Given the description of an element on the screen output the (x, y) to click on. 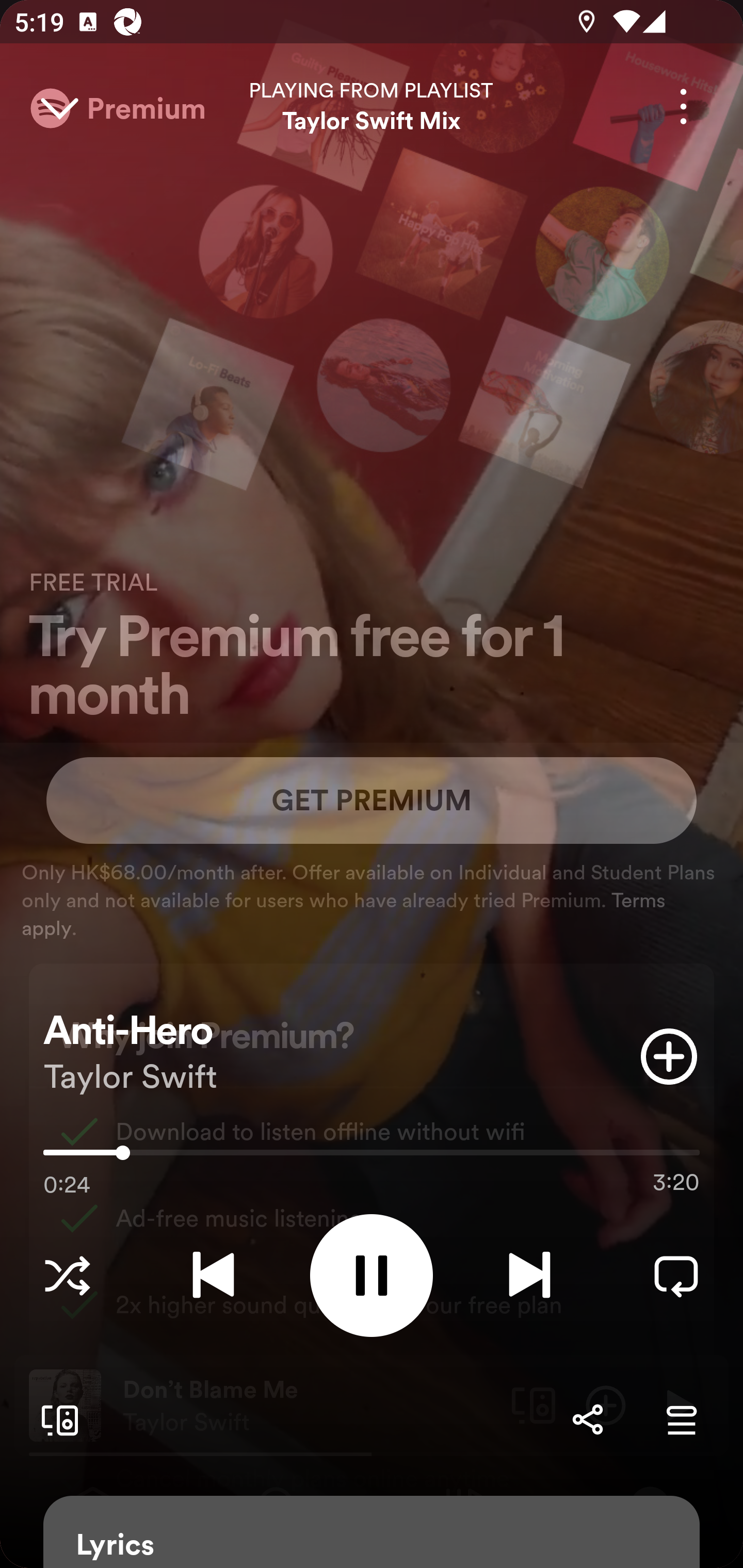
Close (59, 106)
More options for song Anti-Hero (683, 106)
PLAYING FROM PLAYLIST Taylor Swift Mix (371, 106)
Add item (669, 1056)
0:24 3:20 24160.0 Use volume keys to adjust (371, 1157)
Pause (371, 1275)
Previous (212, 1275)
Next (529, 1275)
Choose a Listening Mode (66, 1275)
Repeat (676, 1275)
Share (587, 1419)
Go to Queue (681, 1419)
Connect to a device. Opens the devices menu (55, 1419)
Lyrics (371, 1531)
